Given the description of an element on the screen output the (x, y) to click on. 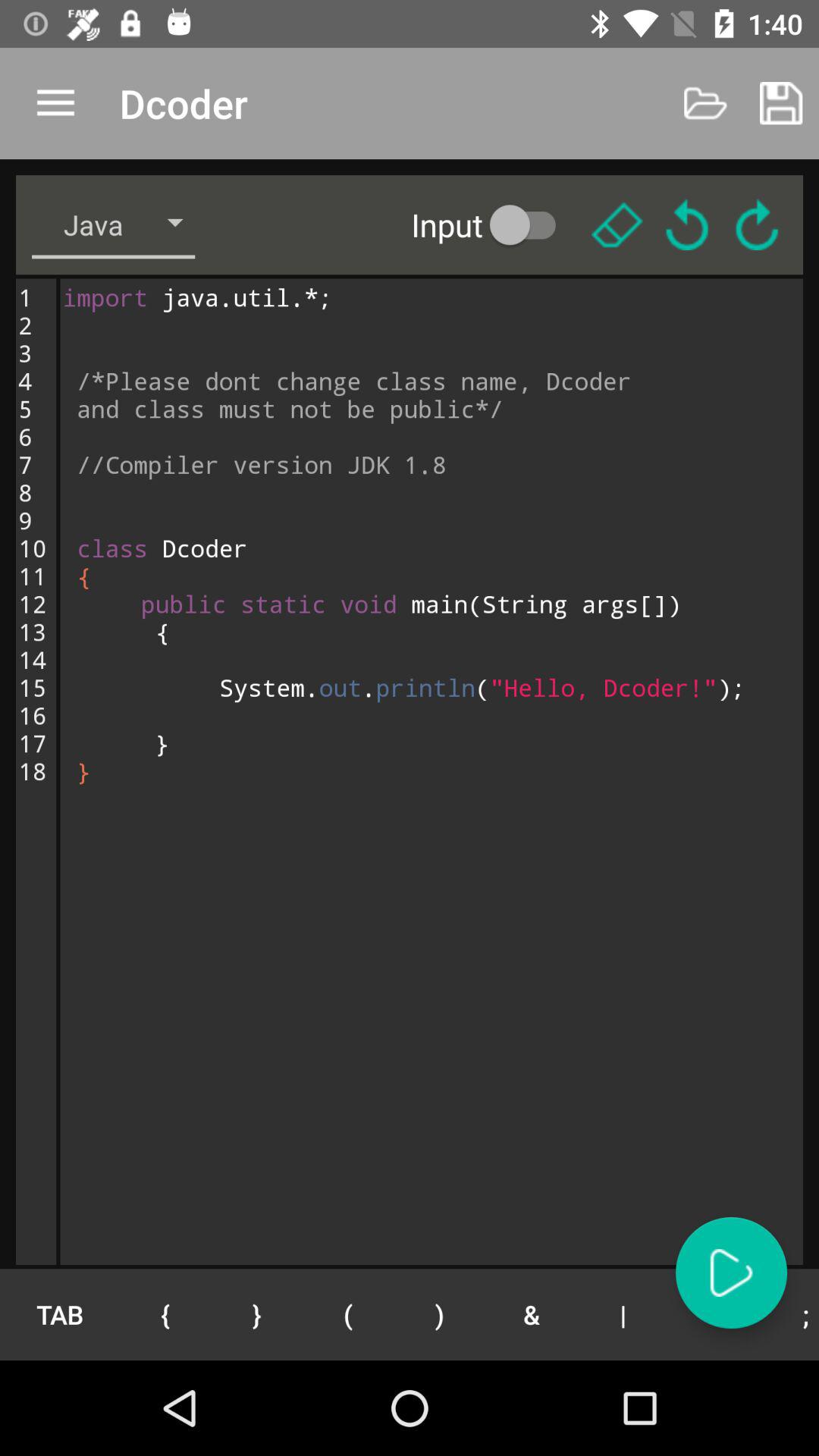
turn on the icon next to the dcoder app (55, 103)
